Given the description of an element on the screen output the (x, y) to click on. 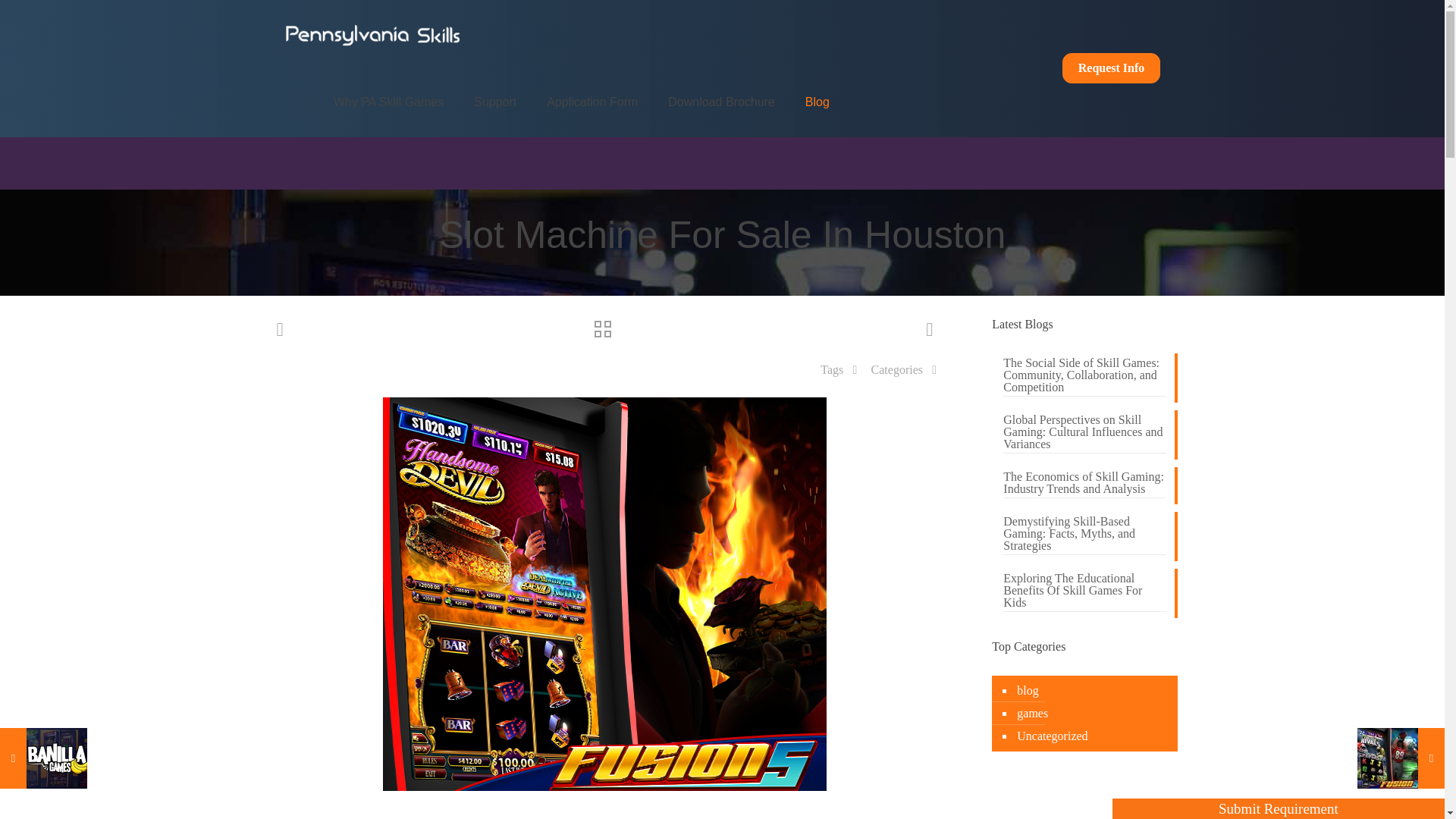
Buy Slot Machine For Home (1387, 758)
PA Skill Games (373, 33)
Why PA Skill Games (389, 101)
Download Brochure (721, 101)
Request Info (1111, 68)
Double Diamond Slot Machine For Sale (56, 758)
Application Form (591, 101)
Support (494, 101)
